Given the description of an element on the screen output the (x, y) to click on. 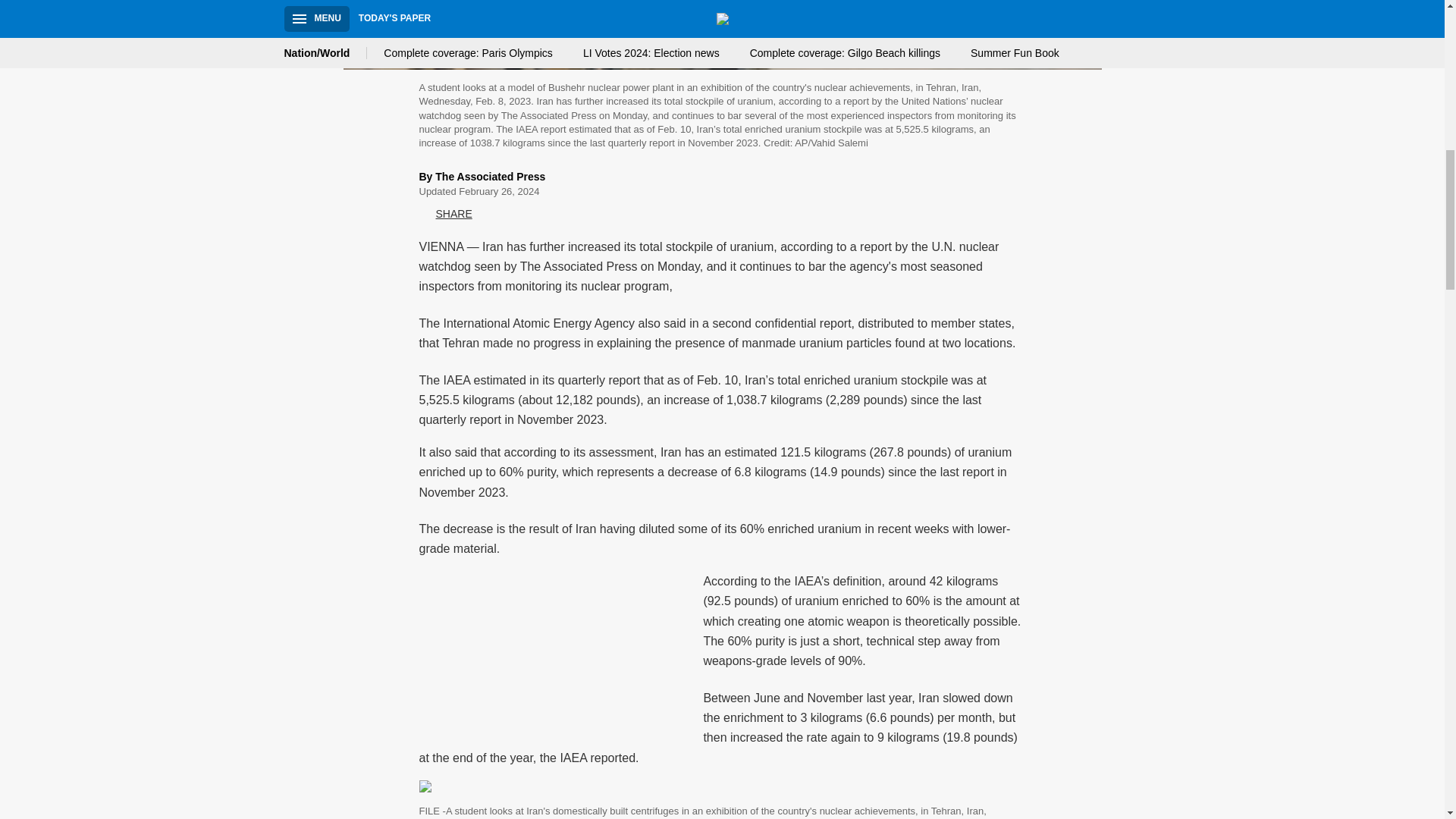
SHARE (445, 214)
Read in the app (238, 707)
